Given the description of an element on the screen output the (x, y) to click on. 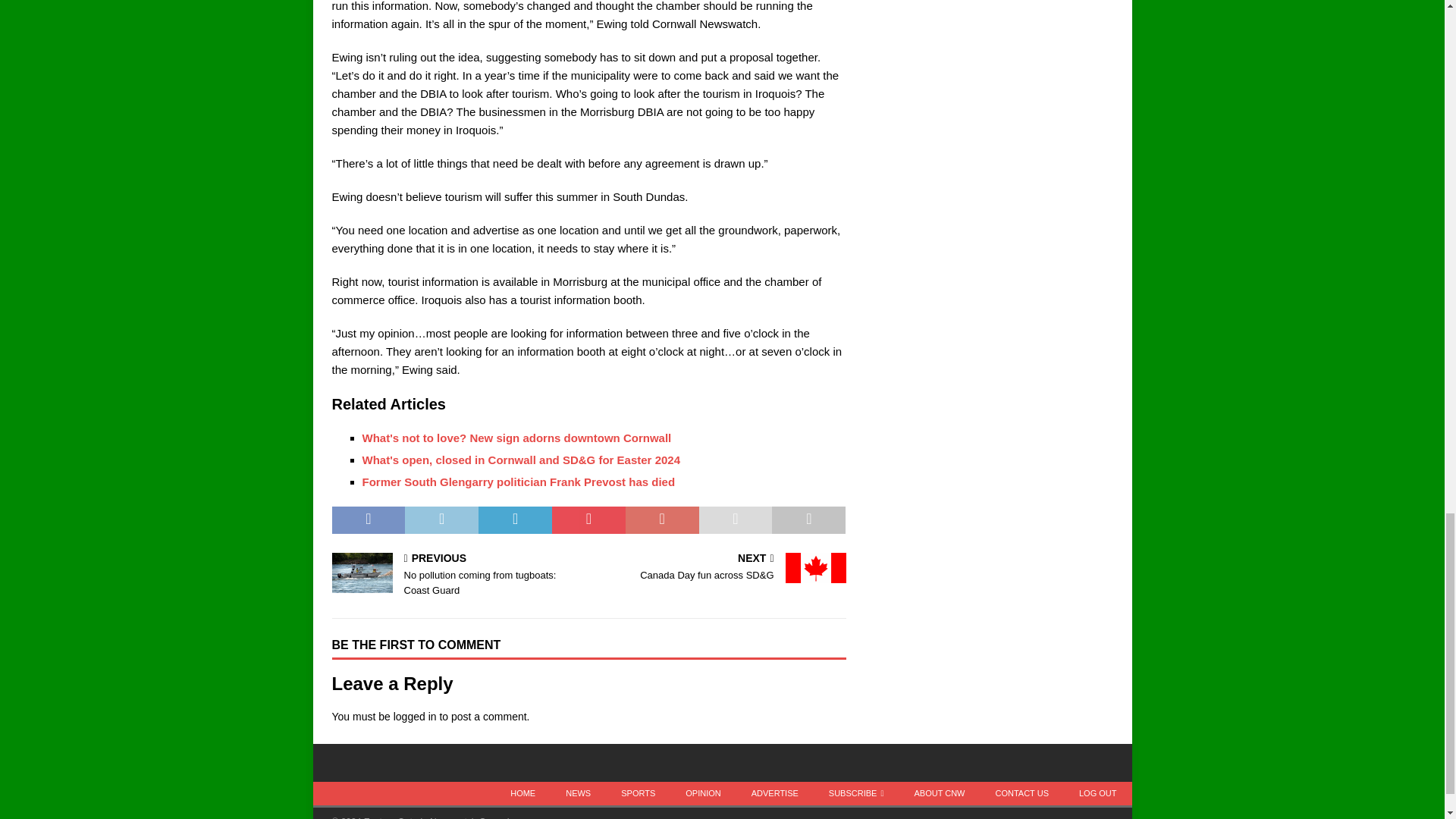
What's not to love? New sign adorns downtown Cornwall (516, 437)
Former South Glengarry politician Frank Prevost has died (518, 481)
